Given the description of an element on the screen output the (x, y) to click on. 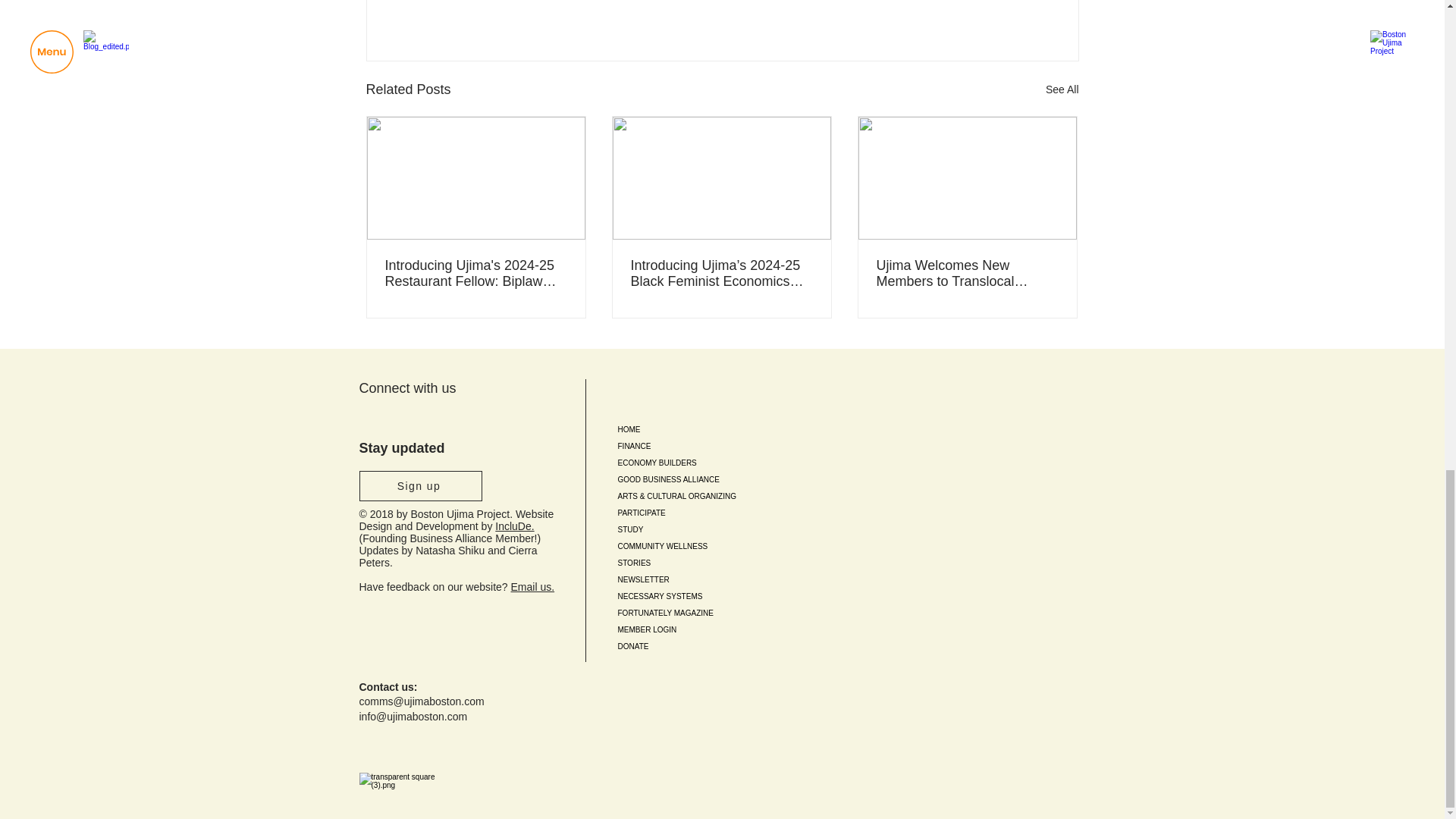
Email us. (532, 586)
IncluDe. (514, 526)
Sign up (420, 485)
Introducing Ujima's 2024-25 Restaurant Fellow: Biplaw Rai (476, 273)
See All (1061, 89)
HOME (716, 429)
